Given the description of an element on the screen output the (x, y) to click on. 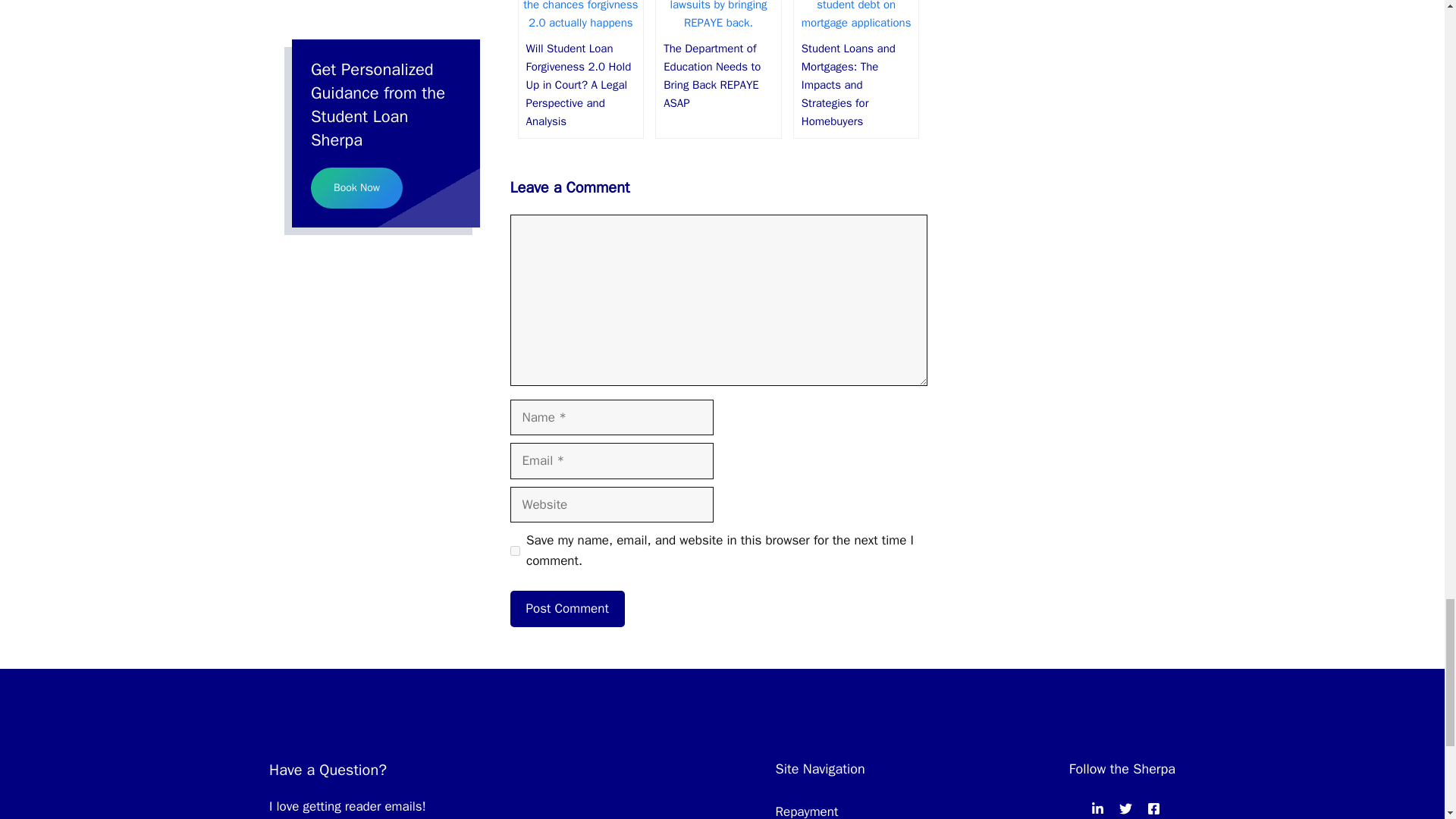
The Department of Education Needs to Bring Back REPAYE ASAP (718, 22)
Post Comment (566, 608)
yes (514, 551)
